Given the description of an element on the screen output the (x, y) to click on. 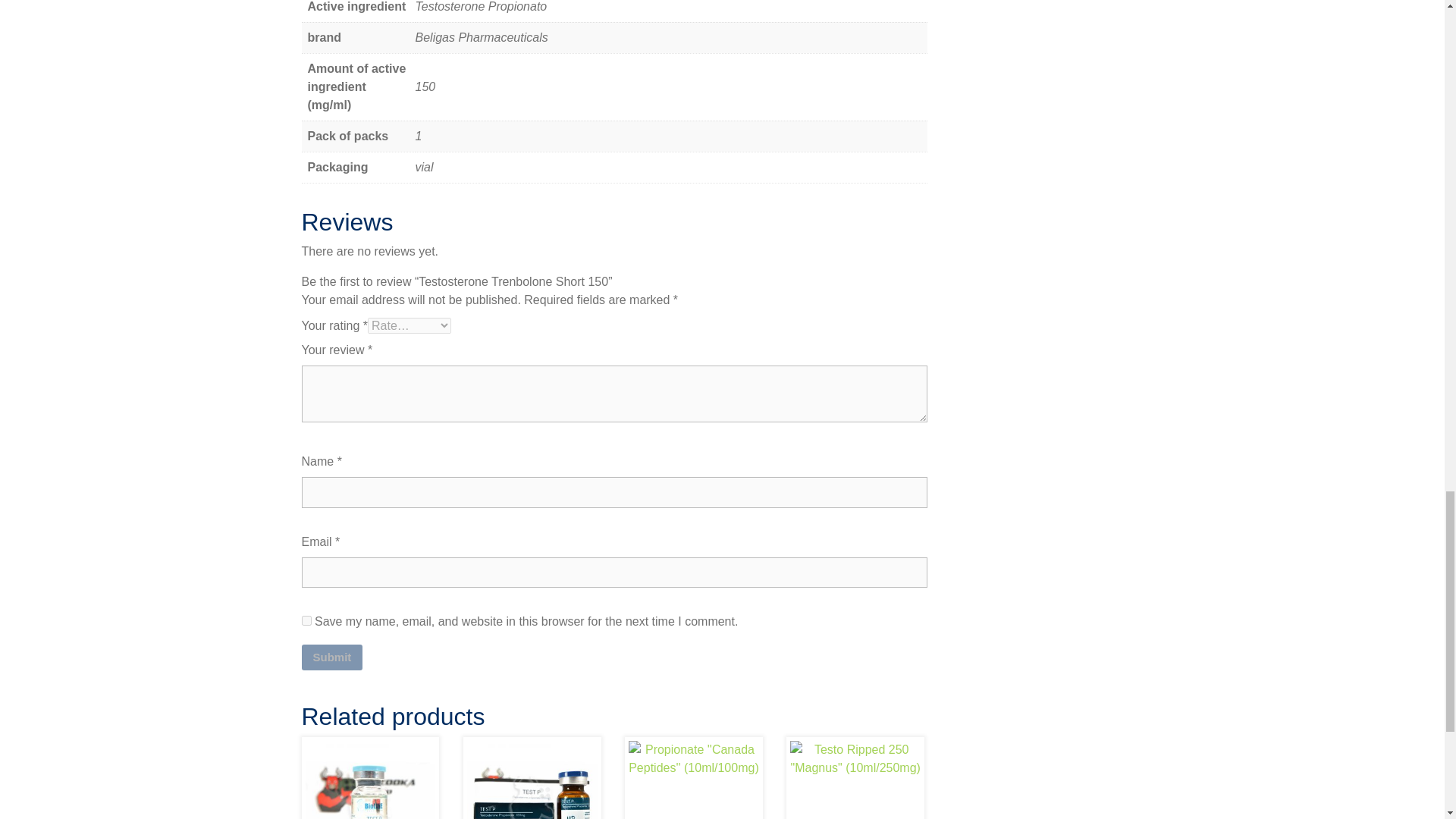
Submit (331, 657)
Submit (331, 657)
yes (306, 620)
